Given the description of an element on the screen output the (x, y) to click on. 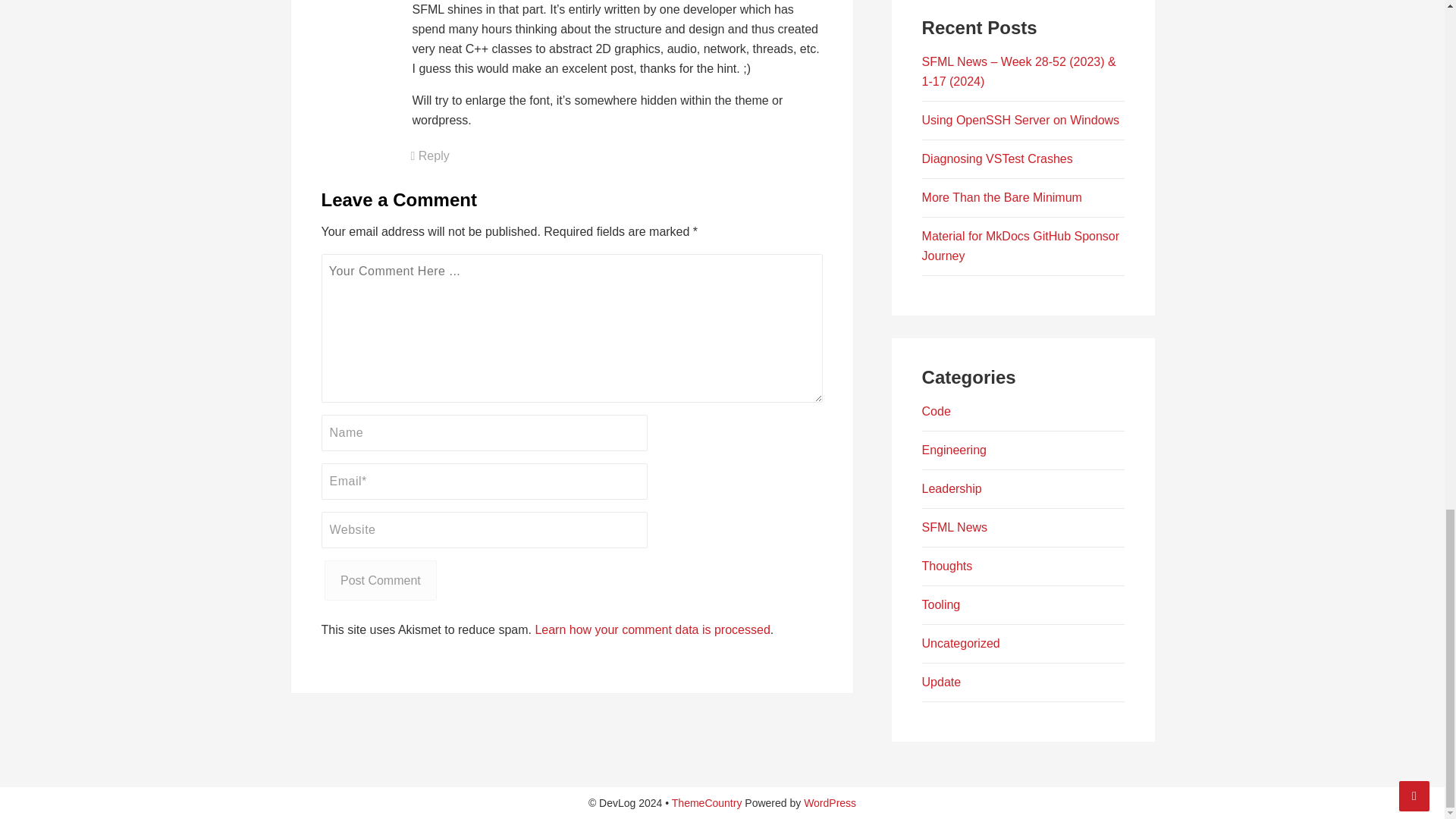
BasePress - The best free WordPress blog theme for WordPress (706, 802)
Post Comment (380, 579)
Reply (429, 155)
Post Comment (380, 579)
Learn how your comment data is processed (652, 629)
